Given the description of an element on the screen output the (x, y) to click on. 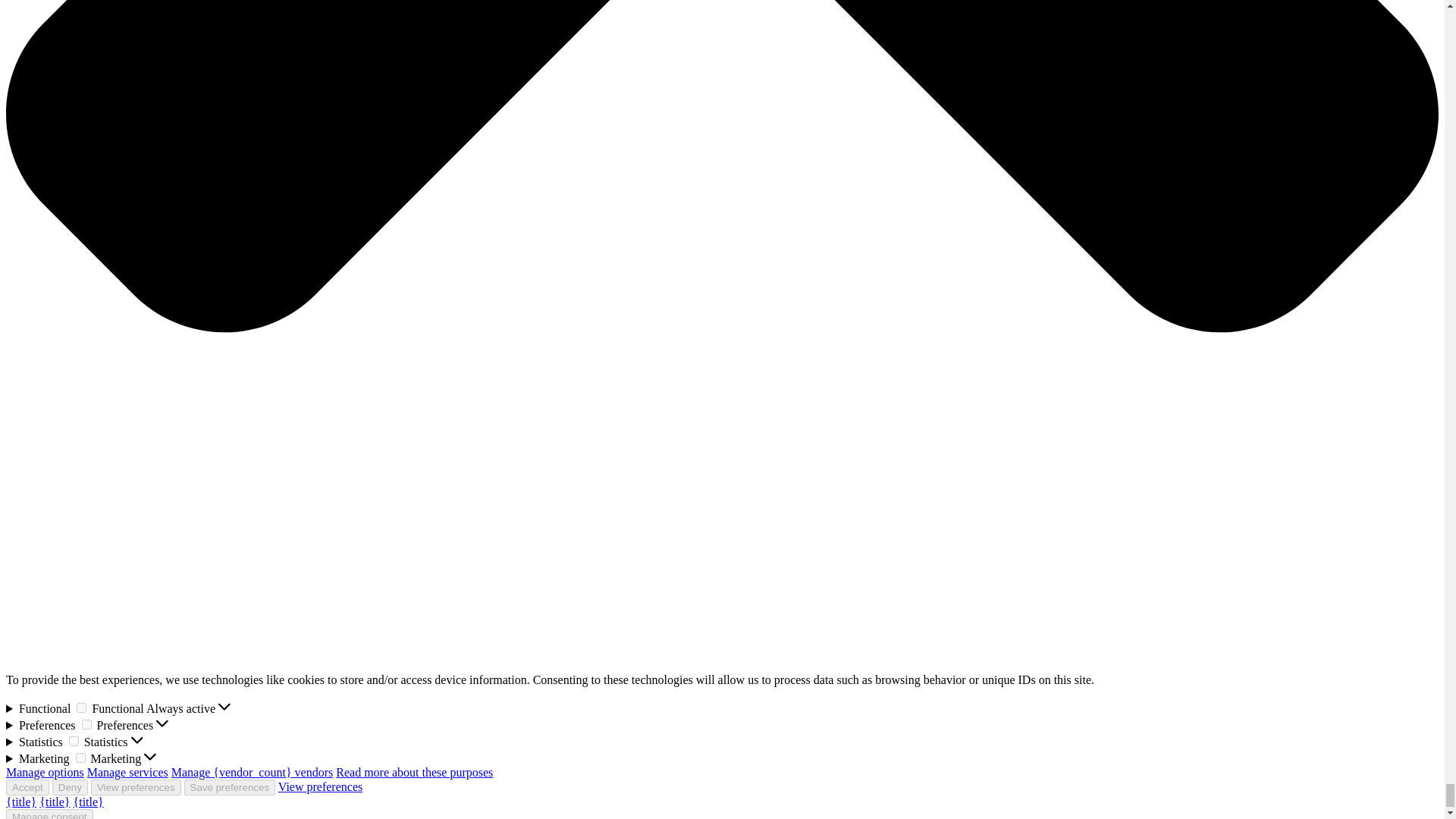
1 (80, 757)
1 (86, 724)
1 (81, 707)
1 (73, 741)
